Given the description of an element on the screen output the (x, y) to click on. 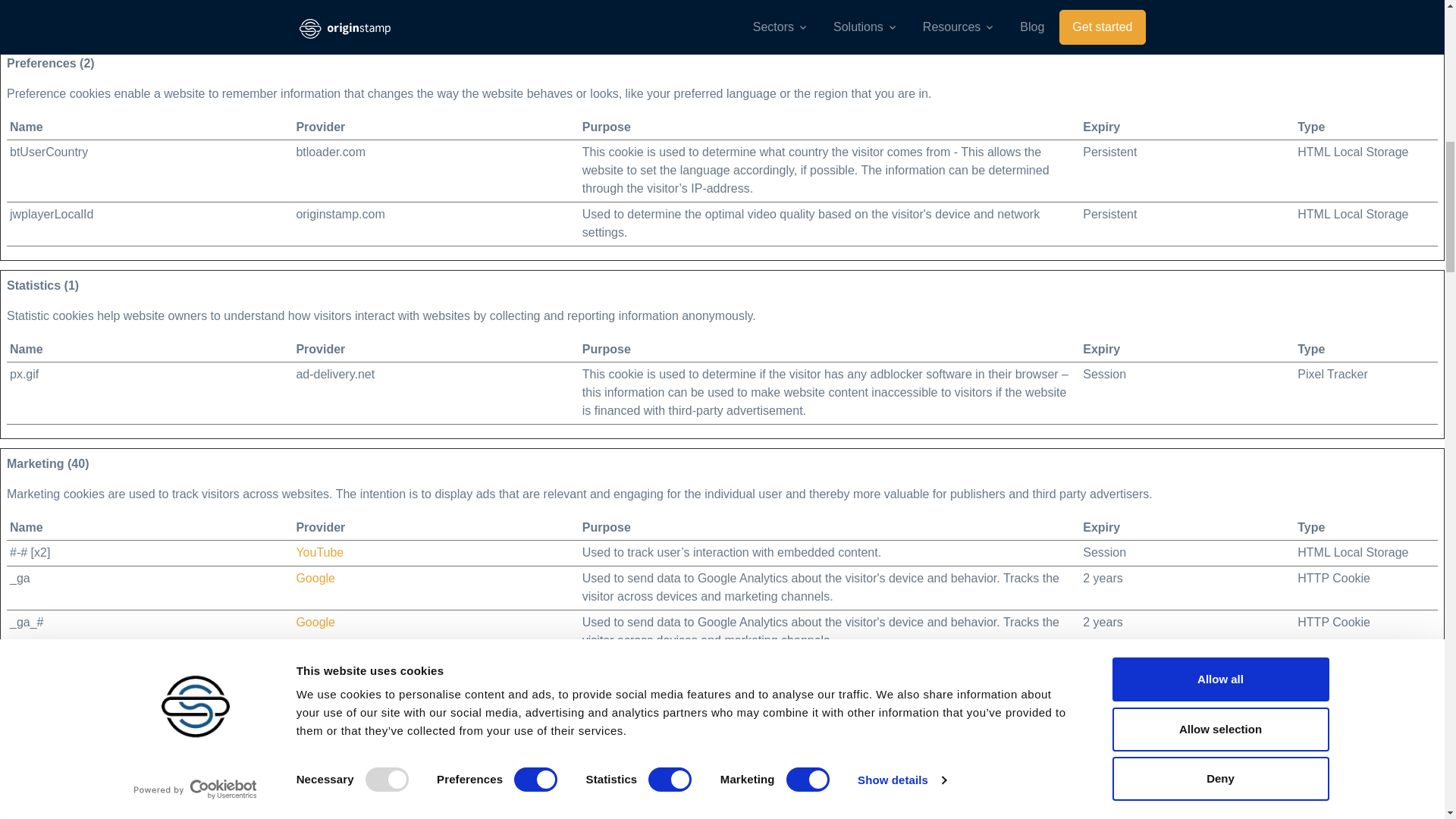
Google (314, 10)
Google (314, 709)
Google (314, 577)
Google (314, 621)
Adthrive (317, 753)
Google's privacy policy (314, 709)
YouTube's privacy policy (319, 552)
YouTube (319, 552)
Google's privacy policy (314, 621)
Google's privacy policy (314, 666)
Adthrive's privacy policy (317, 753)
Google's privacy policy (314, 577)
Adthrive (317, 814)
Google's privacy policy (314, 10)
Google (314, 666)
